Given the description of an element on the screen output the (x, y) to click on. 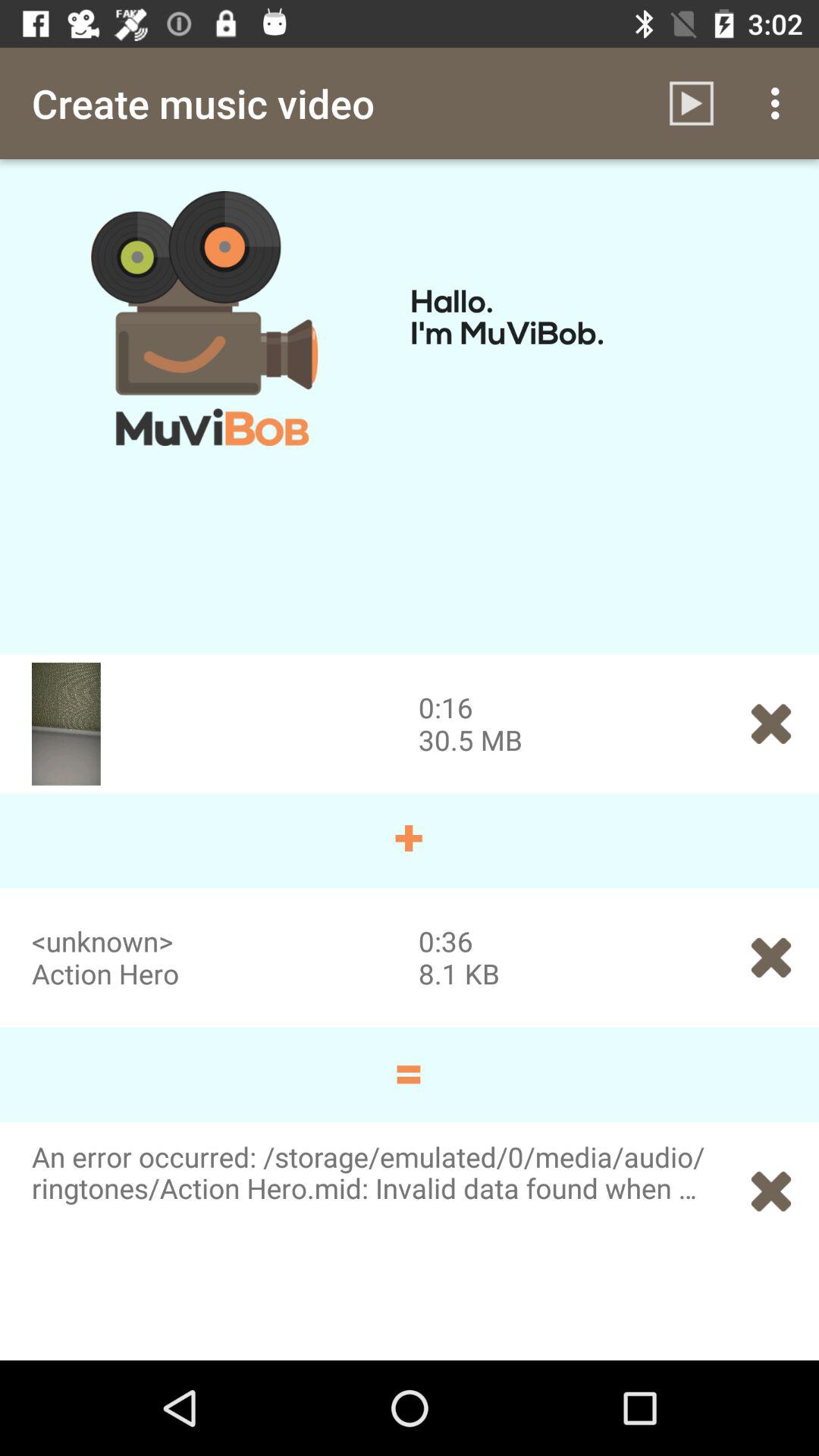
choose the icon at the bottom right corner (771, 1191)
